Given the description of an element on the screen output the (x, y) to click on. 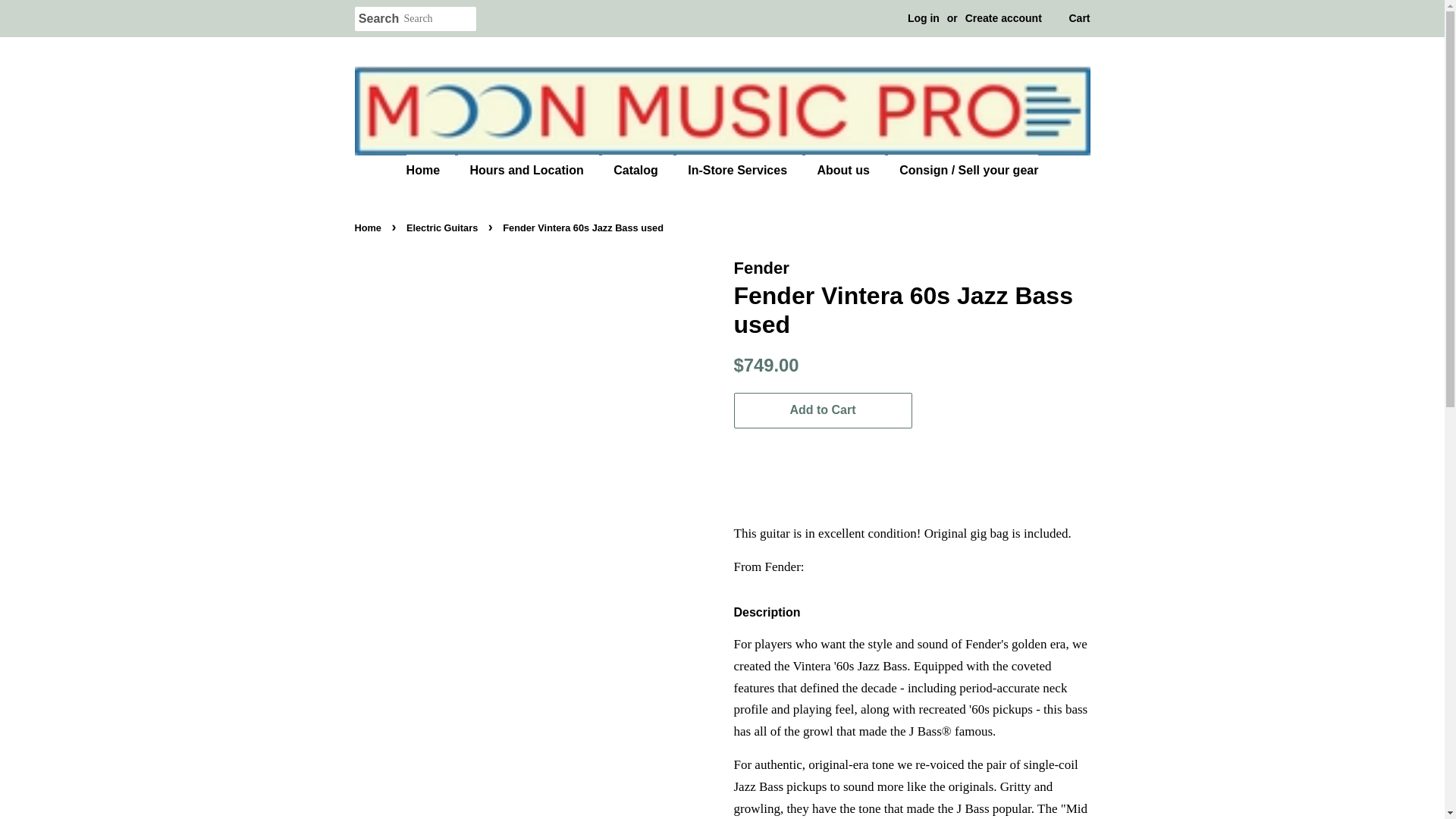
In-Store Services (739, 169)
Hours and Location (528, 169)
Cart (1078, 18)
Search (379, 18)
Catalog (637, 169)
Back to the frontpage (370, 227)
Log in (923, 18)
Home (430, 169)
Create account (1003, 18)
About us (844, 169)
